Given the description of an element on the screen output the (x, y) to click on. 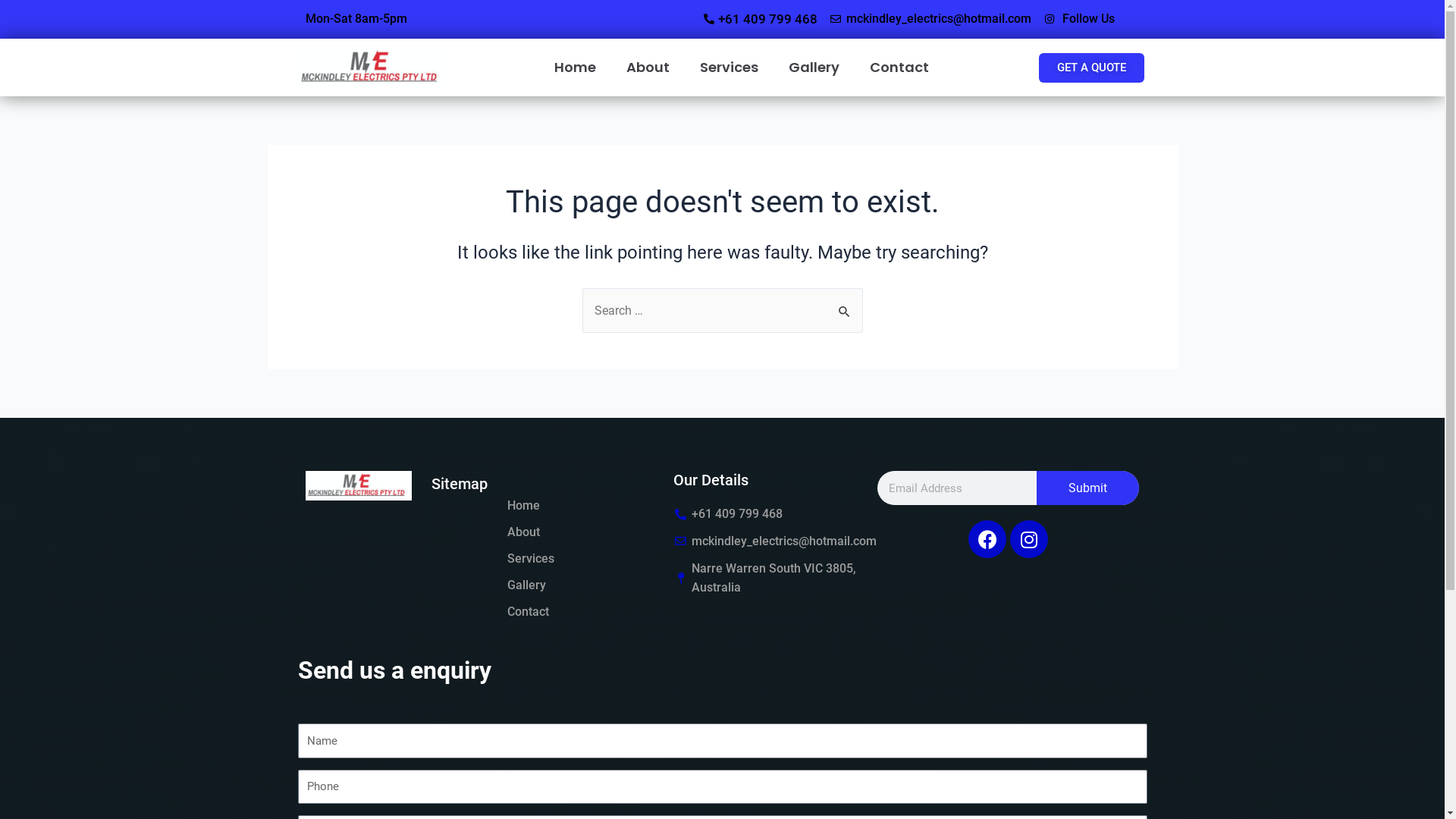
Home Element type: text (522, 505)
Search Element type: text (845, 304)
Submit Element type: text (1087, 487)
GET A QUOTE Element type: text (1091, 67)
About Element type: text (522, 531)
+61 409 799 468 Element type: text (667, 18)
Services Element type: text (728, 67)
Home Element type: text (575, 67)
Gallery Element type: text (813, 67)
About Element type: text (647, 67)
Services Element type: text (529, 558)
mckindley_electrics@hotmail.com Element type: text (767, 541)
Contact Element type: text (899, 67)
Contact Element type: text (527, 611)
mckindley_electrics@hotmail.com Element type: text (929, 18)
+61 409 799 468 Element type: text (767, 514)
Gallery Element type: text (525, 584)
